Given the description of an element on the screen output the (x, y) to click on. 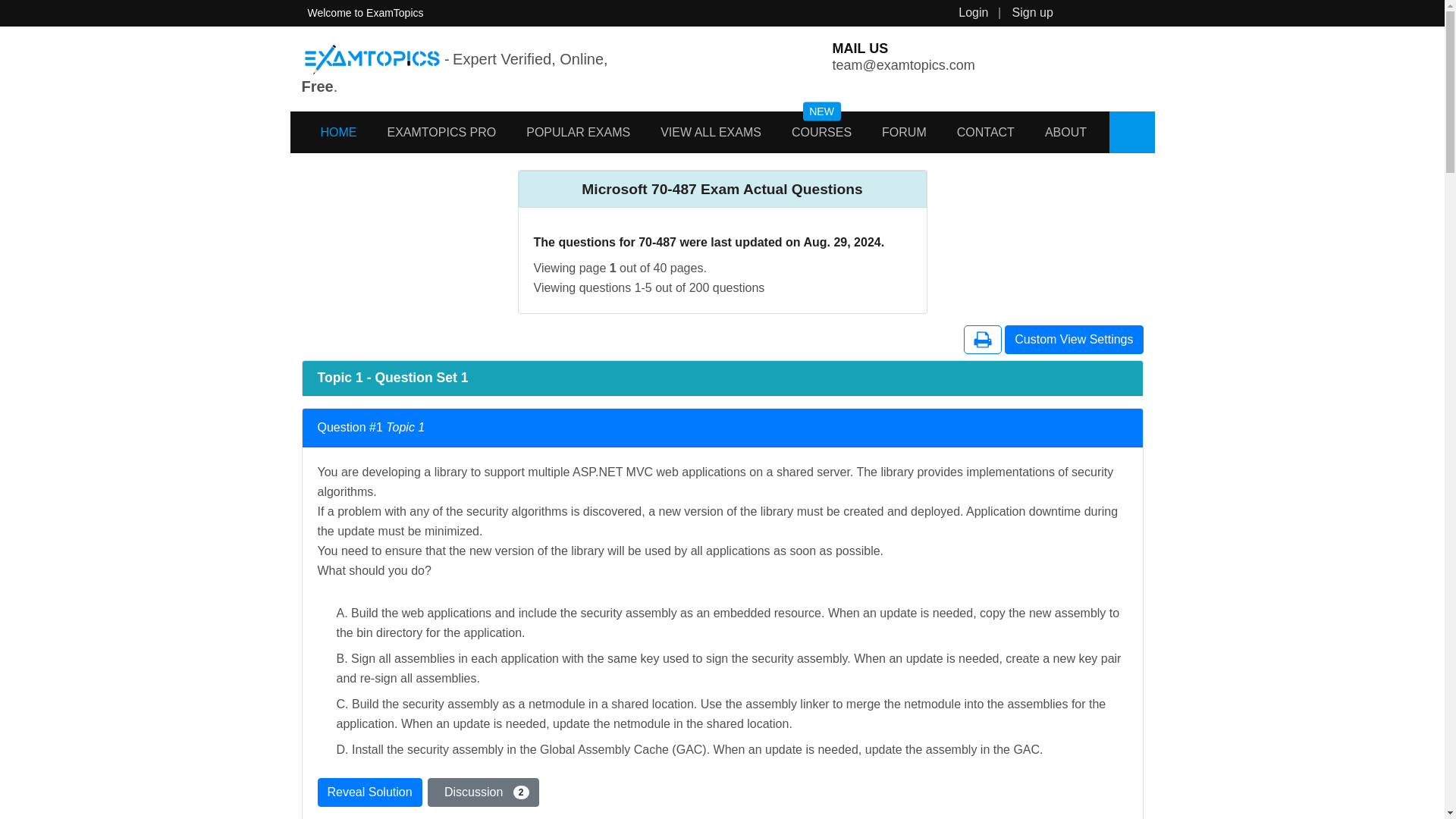
VIEW ALL EXAMS (711, 132)
CONTACT (985, 132)
COURSES (821, 132)
Sign up (1031, 11)
Reveal Solution (369, 792)
FORUM (904, 132)
Custom View Settings (1073, 339)
HOME (322, 132)
POPULAR EXAMS (577, 132)
Login (973, 11)
